Given the description of an element on the screen output the (x, y) to click on. 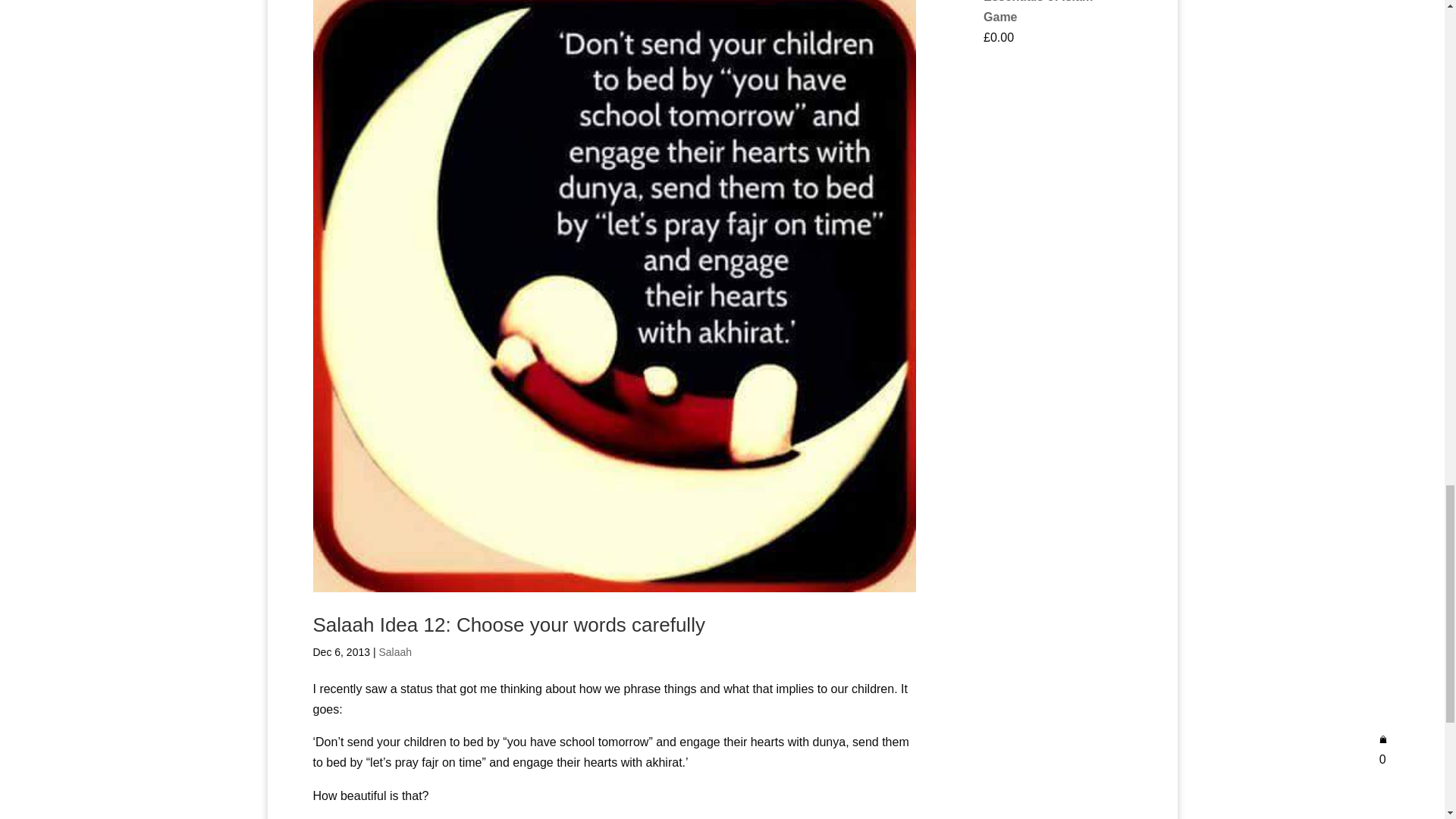
Salaah Idea 12: Choose your words carefully (508, 624)
Salaah (395, 652)
